Given the description of an element on the screen output the (x, y) to click on. 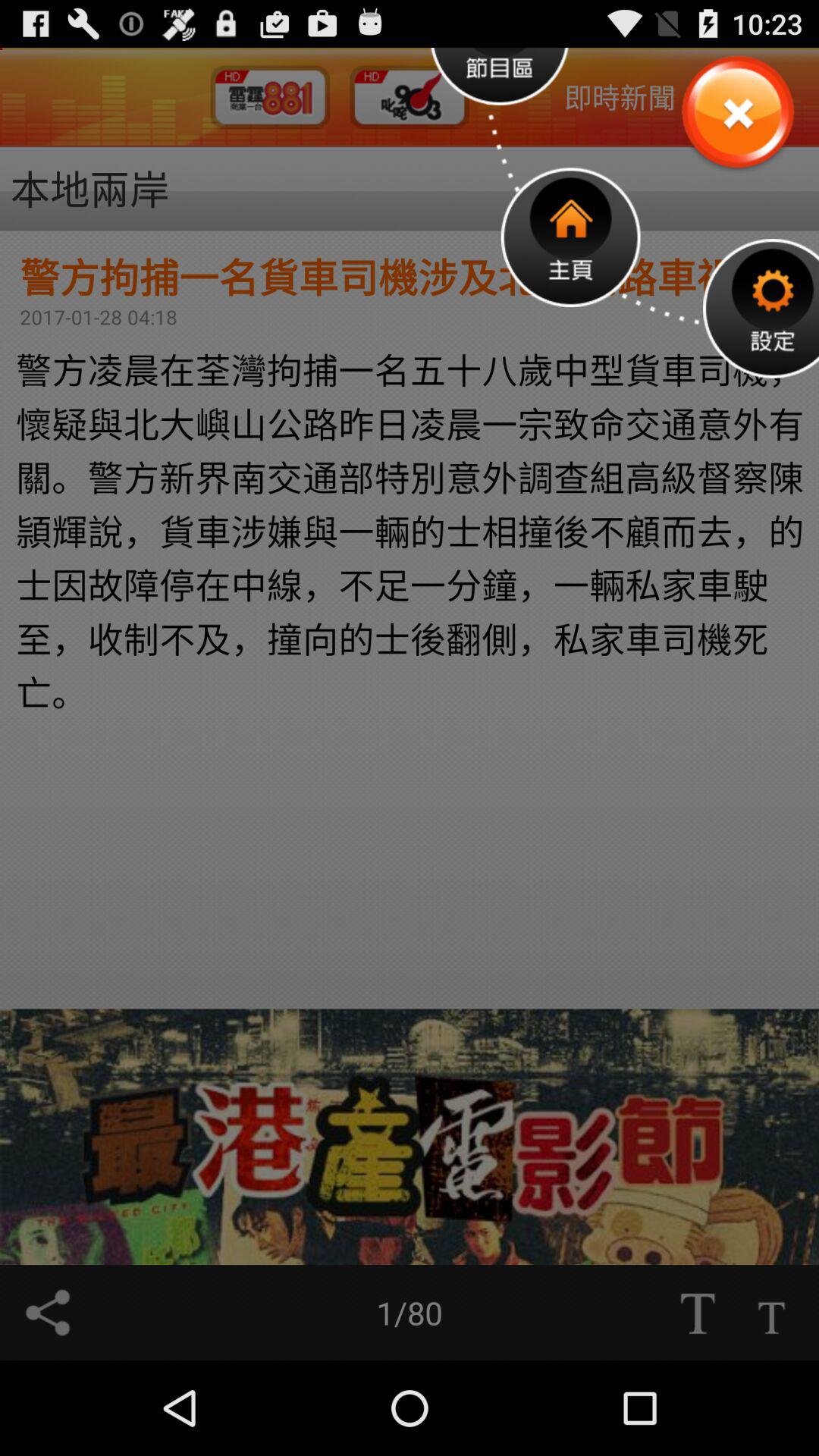
go to share option (47, 1312)
